Given the description of an element on the screen output the (x, y) to click on. 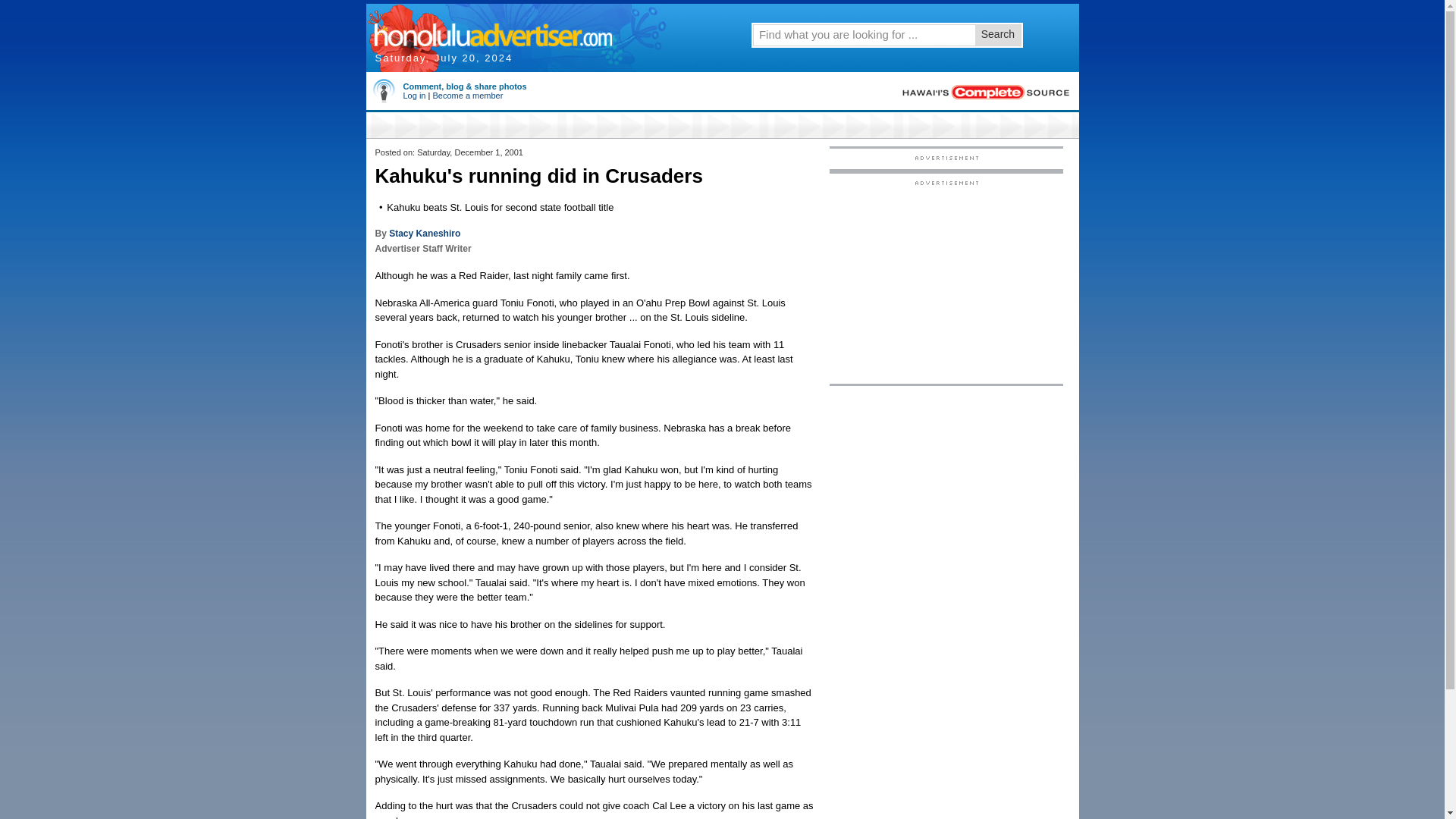
Kahuku beats St. Louis for second state football title (499, 207)
Stacy Kaneshiro (424, 233)
Find what you are looking for ... (863, 34)
Log in (414, 94)
Search (997, 34)
Become a member (467, 94)
Advertisement (945, 280)
